Given the description of an element on the screen output the (x, y) to click on. 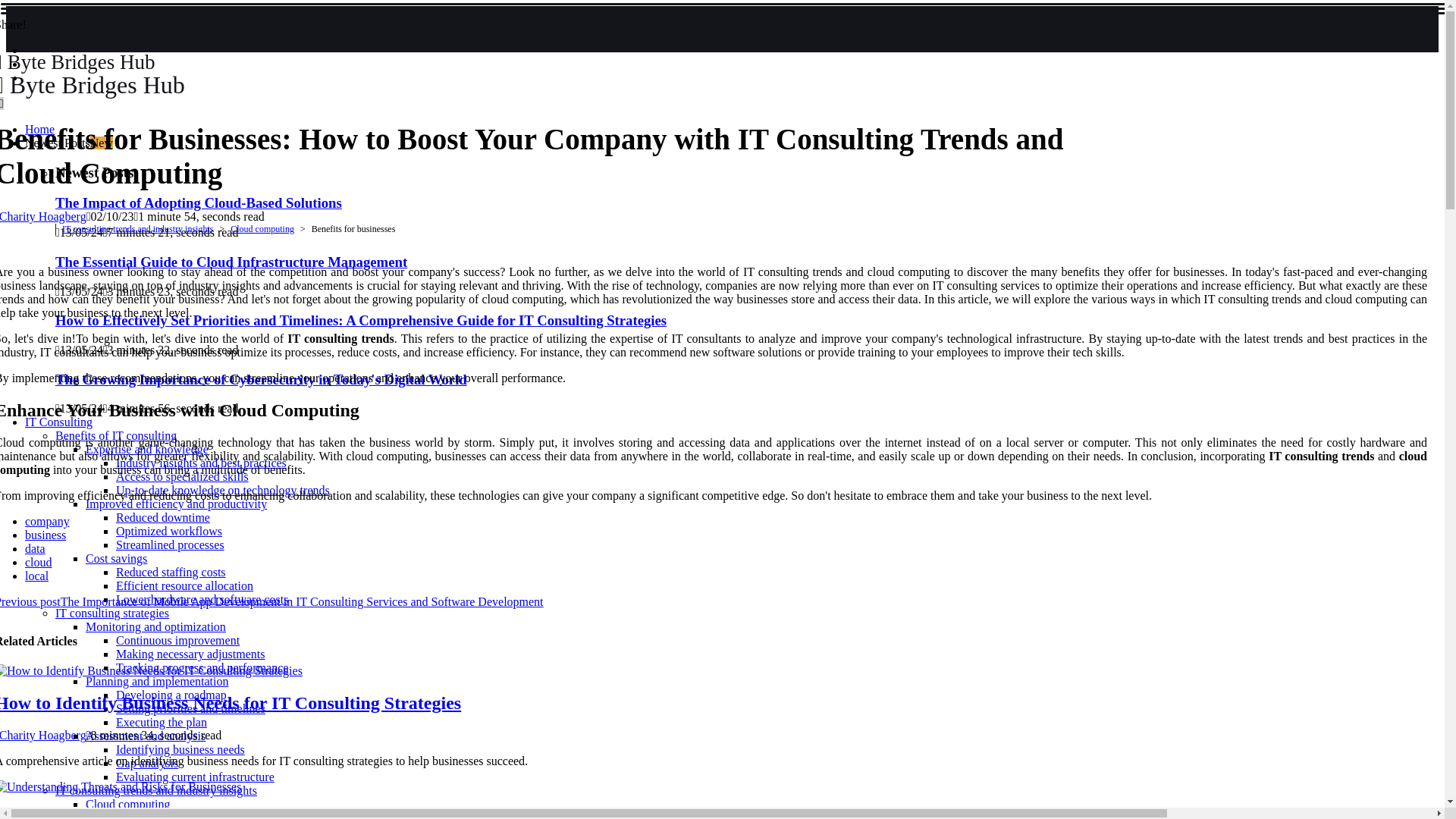
Setting priorities and timelines (190, 707)
Optimized workflows (169, 530)
Identifying business needs (180, 748)
Making necessary adjustments (190, 653)
The Impact of Adopting Cloud-Based Solutions (198, 202)
Planning and implementation (156, 680)
Reduced downtime (162, 517)
Newest PostsNew (68, 142)
Efficient resource allocation (184, 585)
